Given the description of an element on the screen output the (x, y) to click on. 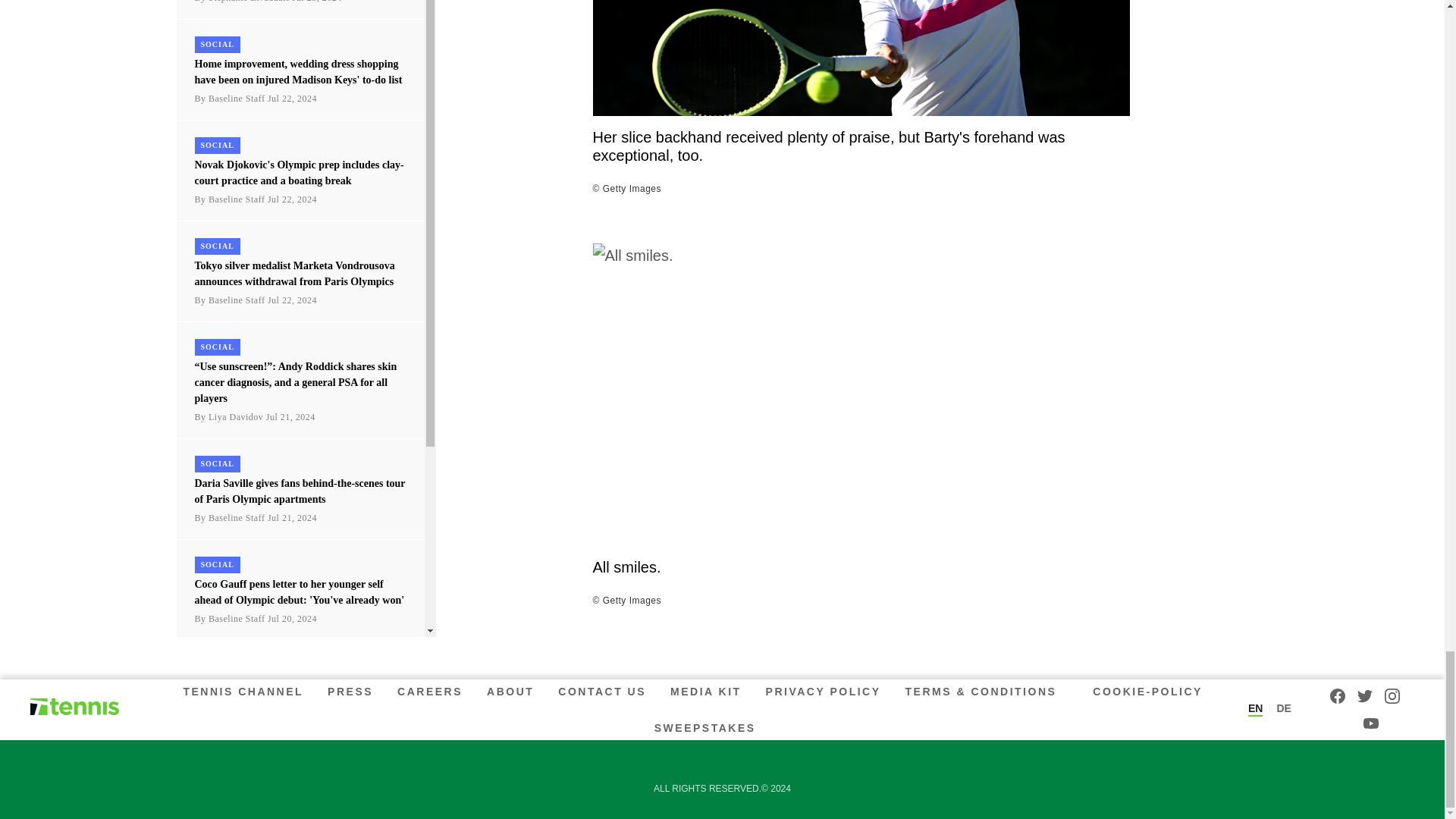
Tennis.com (74, 707)
twitter (1364, 696)
CAREERS (429, 691)
instagram (1392, 696)
TENNIS CHANNEL (245, 691)
PRESS (349, 691)
